Given the description of an element on the screen output the (x, y) to click on. 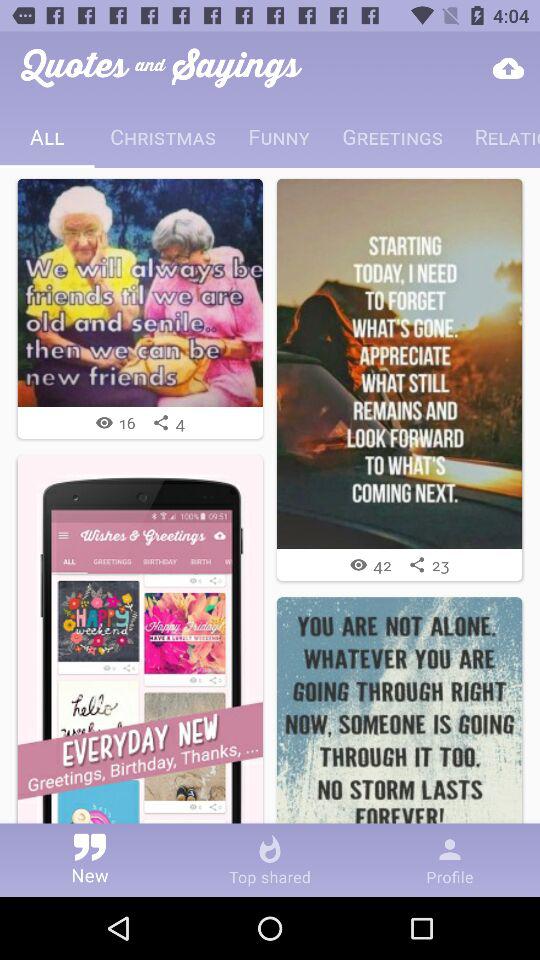
quote image (399, 363)
